Given the description of an element on the screen output the (x, y) to click on. 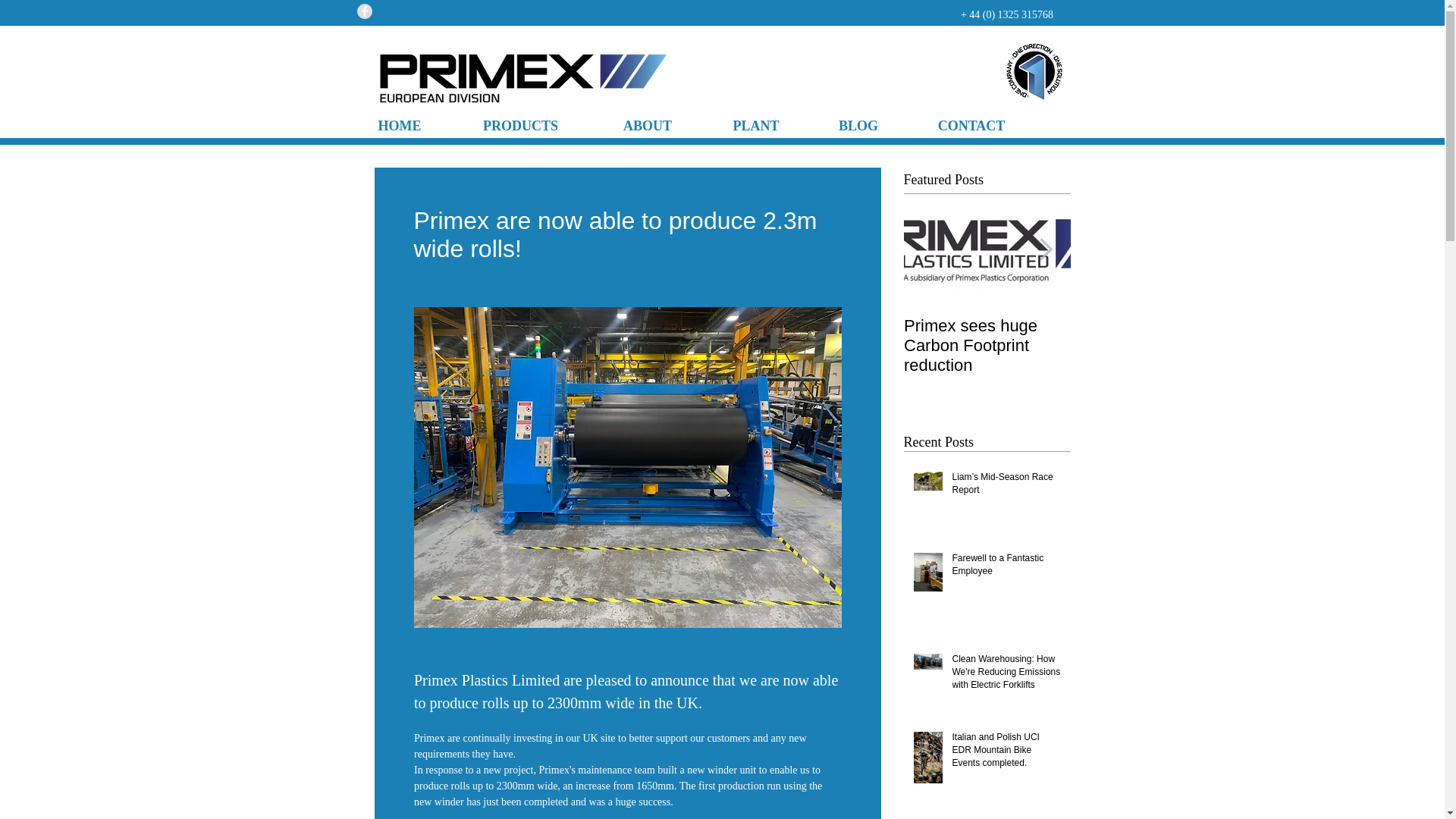
Primex One One One Logo.png (1033, 71)
HOME (399, 126)
PRODUCTS (520, 126)
Primex sees huge Carbon Footprint reduction (987, 345)
Italian and Polish UCI EDR Mountain Bike Events completed. (1006, 752)
BLOG (858, 126)
International Trade Summit, 2019 (1153, 335)
Farewell to a Fantastic Employee (1006, 567)
ABOUT (647, 126)
